Given the description of an element on the screen output the (x, y) to click on. 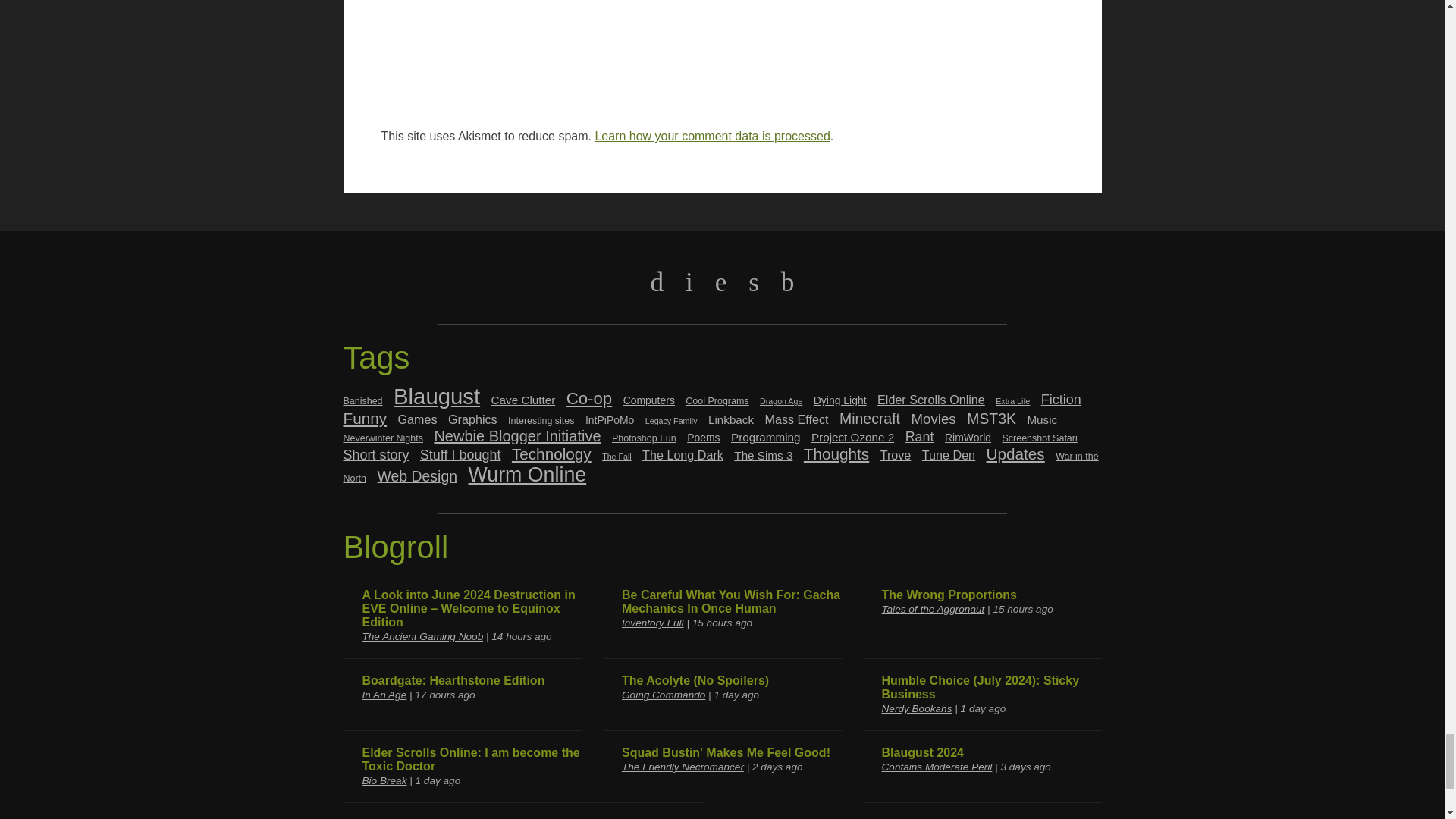
Comment Form (721, 57)
